Given the description of an element on the screen output the (x, y) to click on. 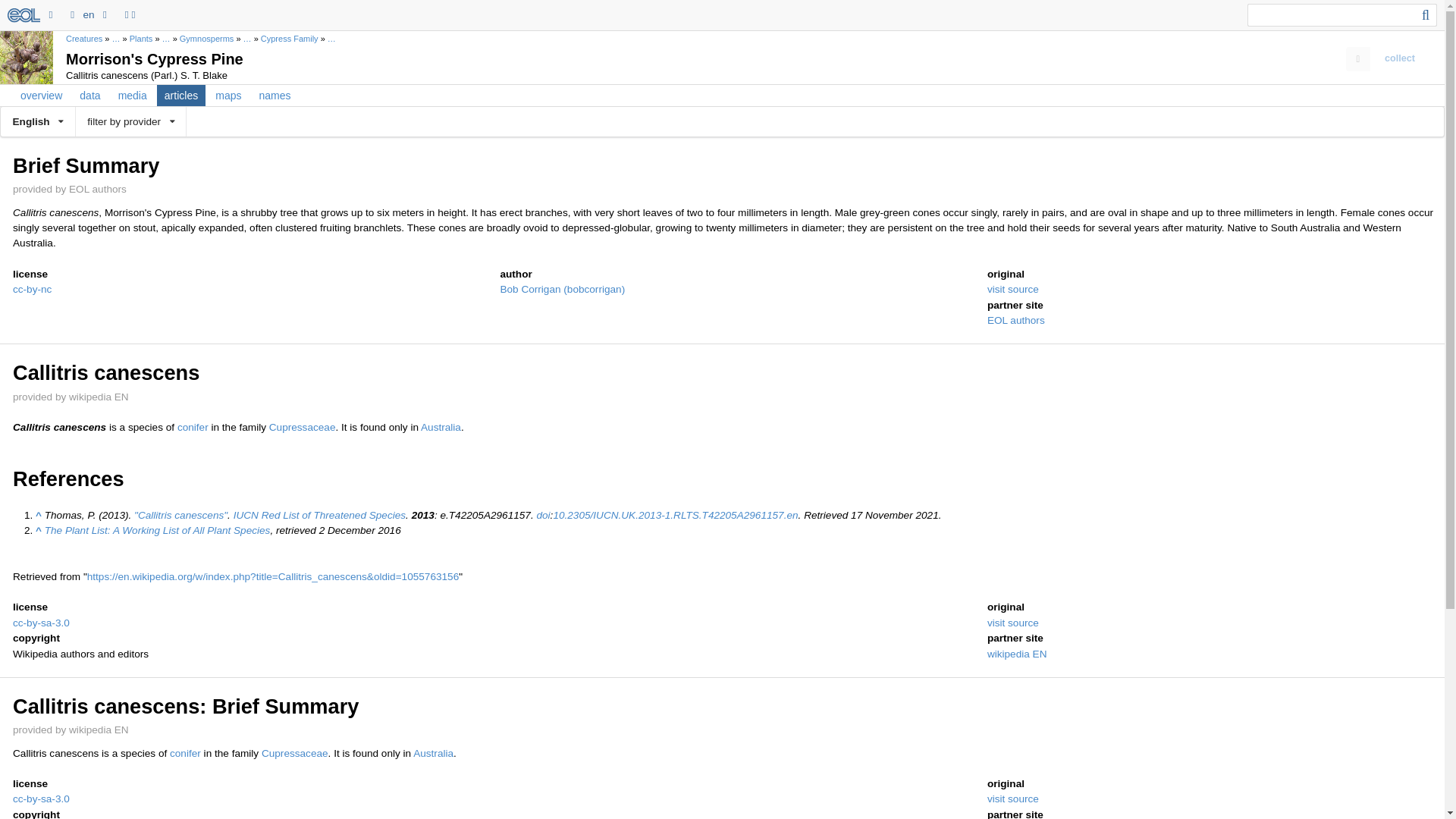
filter by provider (130, 121)
Conifer (192, 427)
Australia (440, 427)
Cupressaceae (302, 427)
Conifer (185, 753)
Cupressaceae (295, 753)
English (38, 121)
Freely accessible (675, 514)
IUCN Red List (319, 514)
Australia (432, 753)
